Given the description of an element on the screen output the (x, y) to click on. 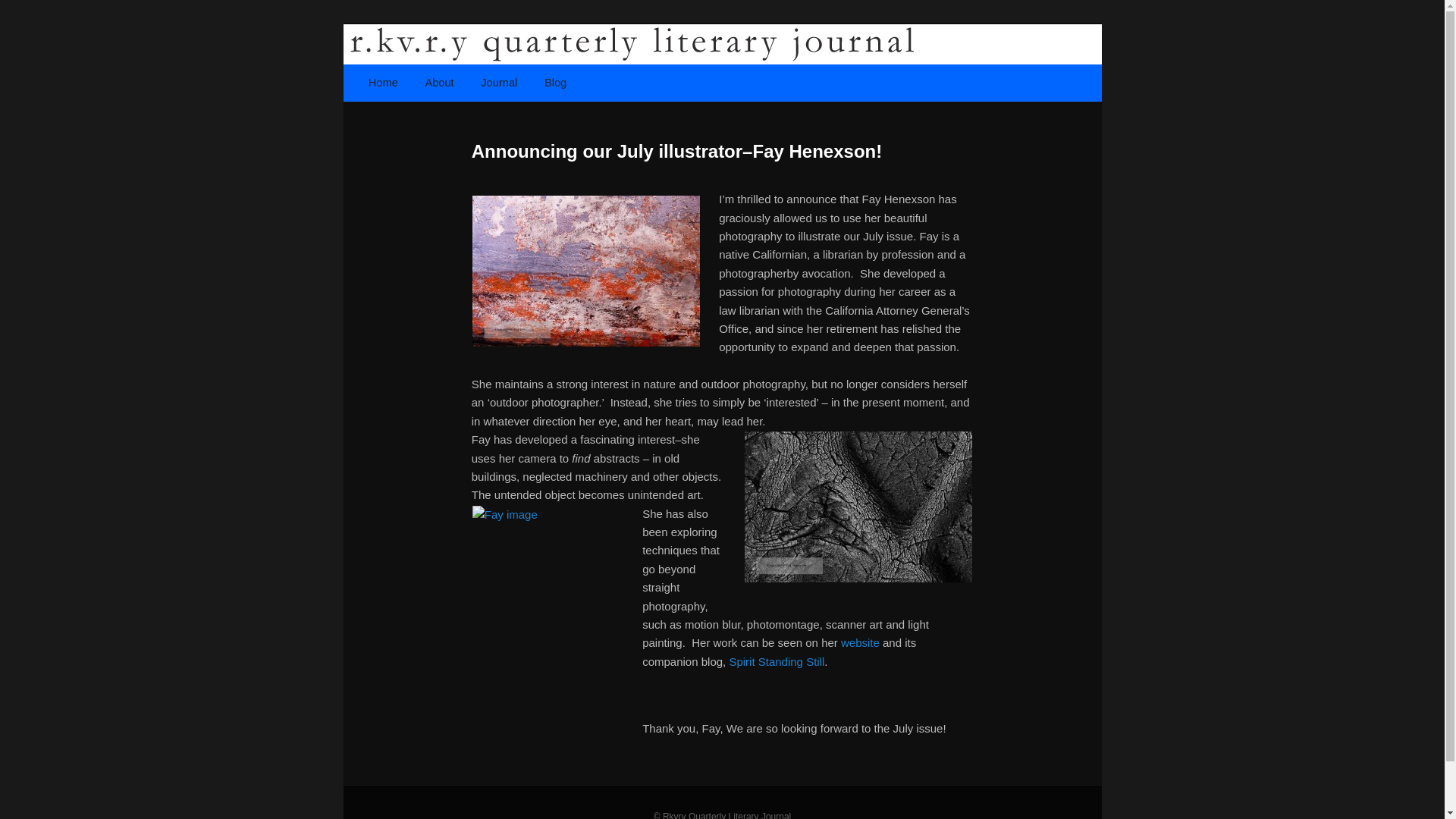
About (439, 82)
Spirit Standing Still (776, 661)
Journal (499, 82)
Skip to primary content (432, 82)
Search (24, 8)
website (860, 642)
Rkvry Quarterly Literary Journal (574, 140)
Home (383, 82)
Blog (555, 82)
